Given the description of an element on the screen output the (x, y) to click on. 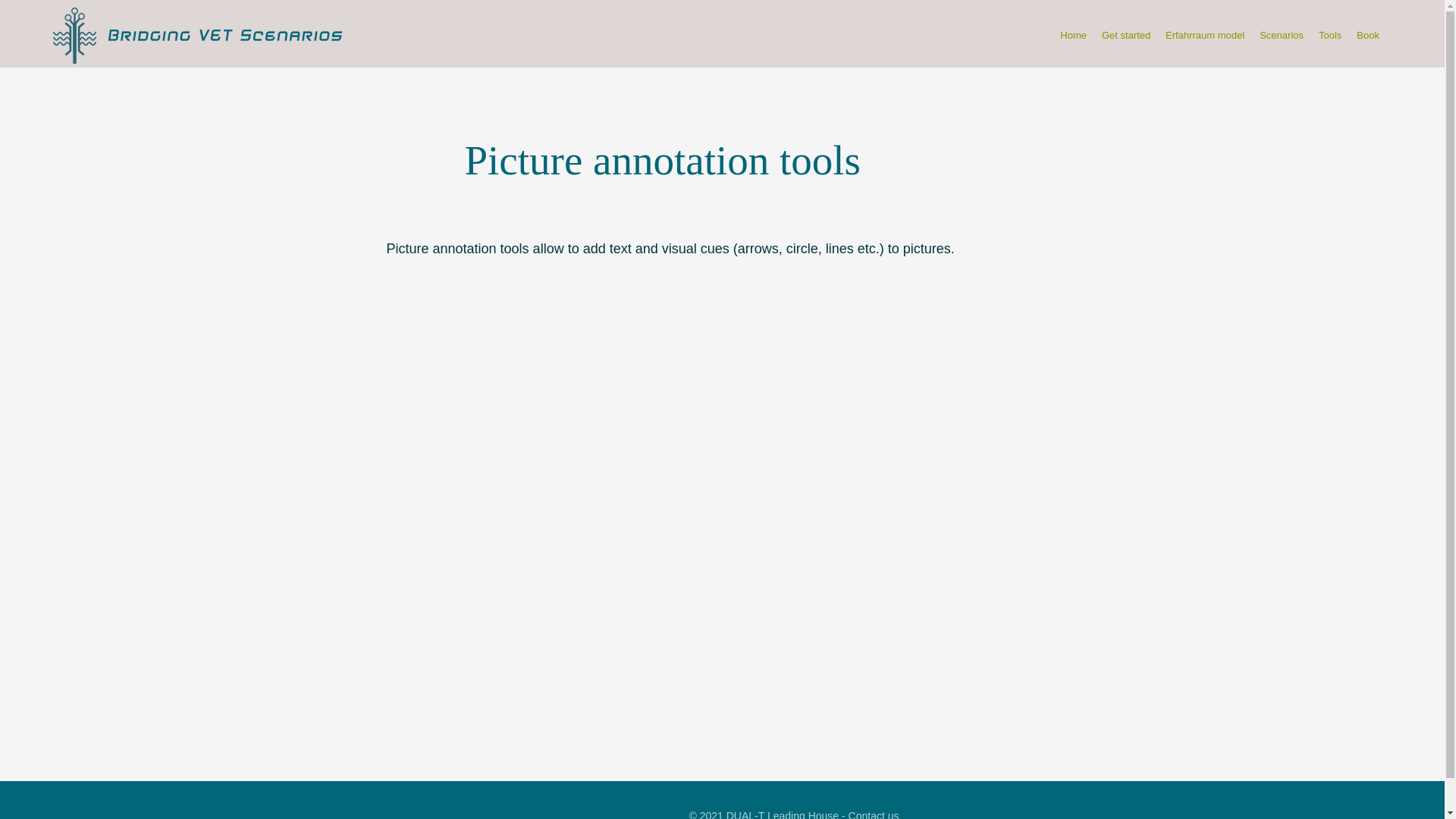
Get started (1125, 35)
Fichier 1.png (74, 35)
Tools (1330, 35)
Erfahrraum model (1204, 35)
Book (1368, 35)
Home (1073, 35)
Contact us (873, 814)
